Given the description of an element on the screen output the (x, y) to click on. 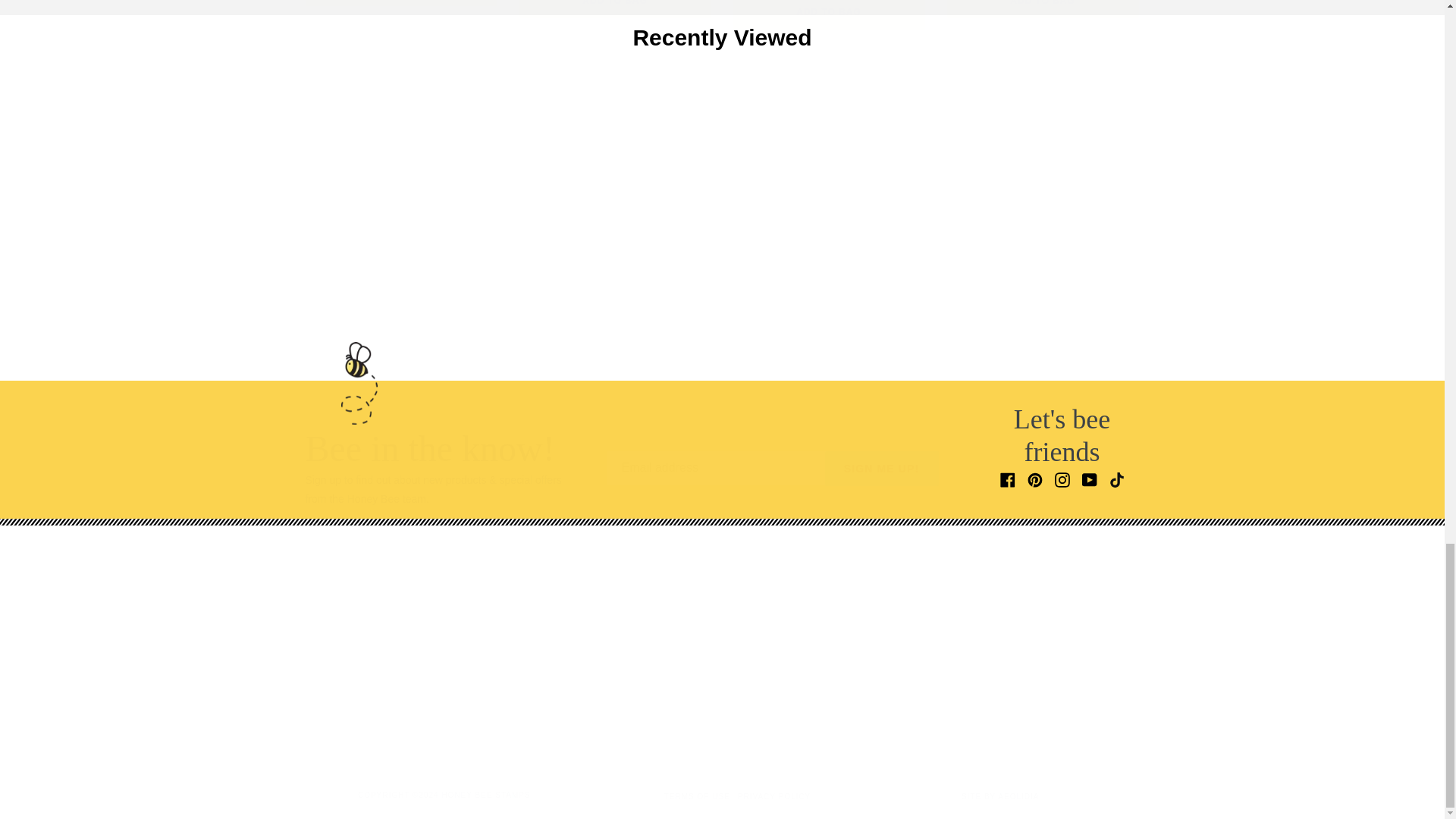
Bee in the know! (772, 468)
